Given the description of an element on the screen output the (x, y) to click on. 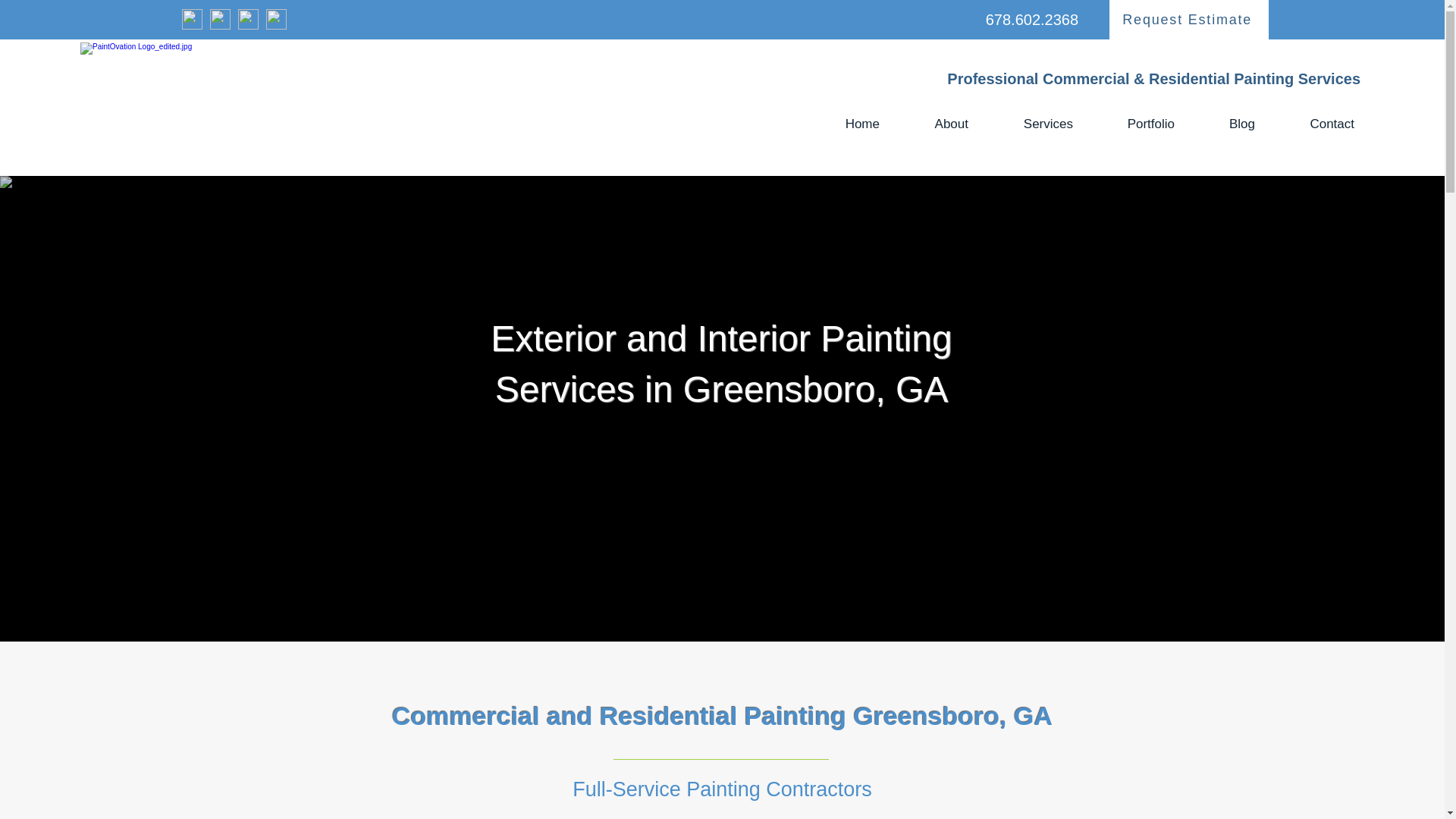
Request Estimate (1188, 19)
Home (846, 124)
Services (1031, 124)
Contact (1315, 124)
About (935, 124)
Portfolio (1135, 124)
Blog (1226, 124)
